Given the description of an element on the screen output the (x, y) to click on. 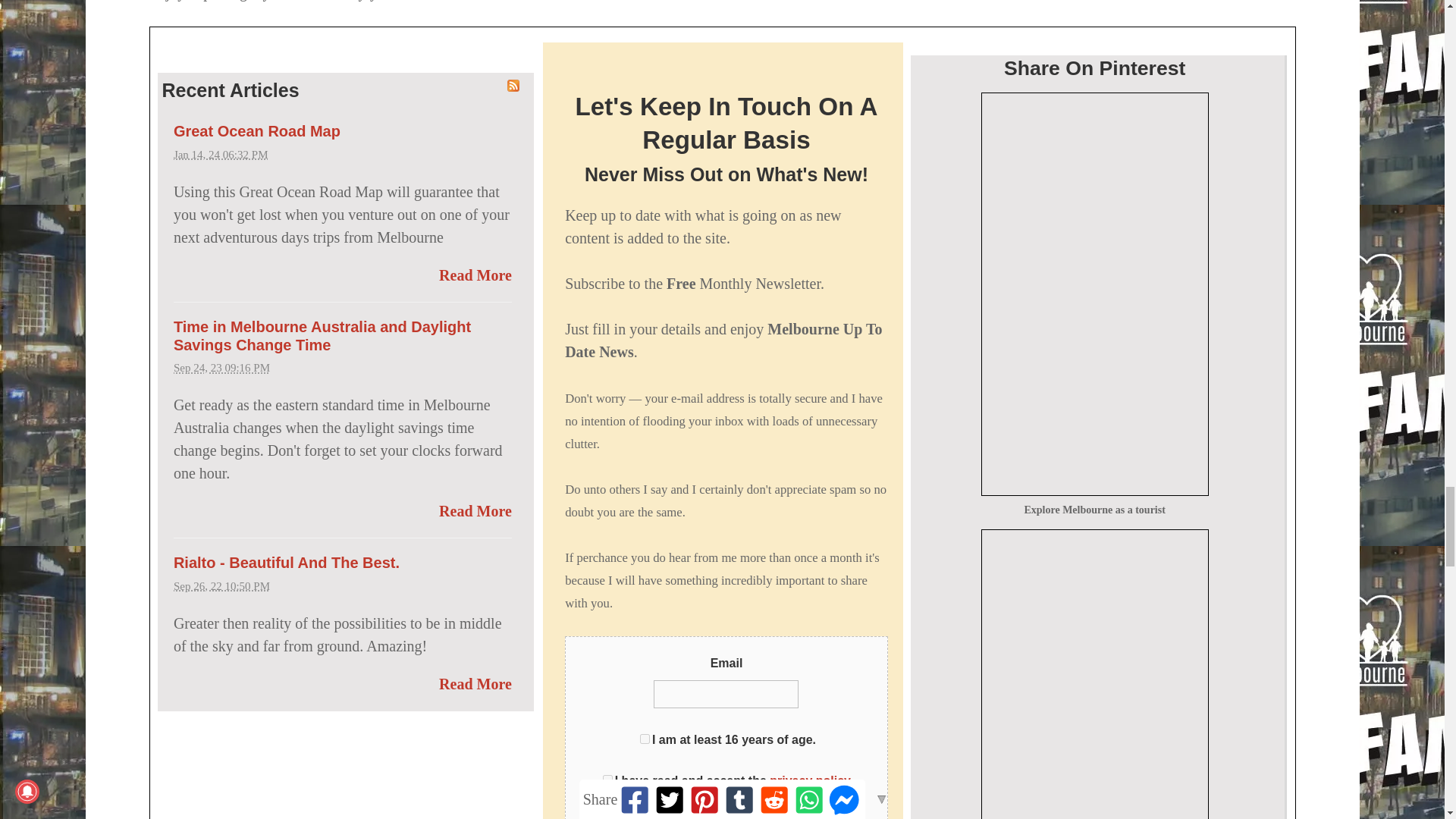
on (596, 817)
on (607, 779)
on (644, 738)
